Given the description of an element on the screen output the (x, y) to click on. 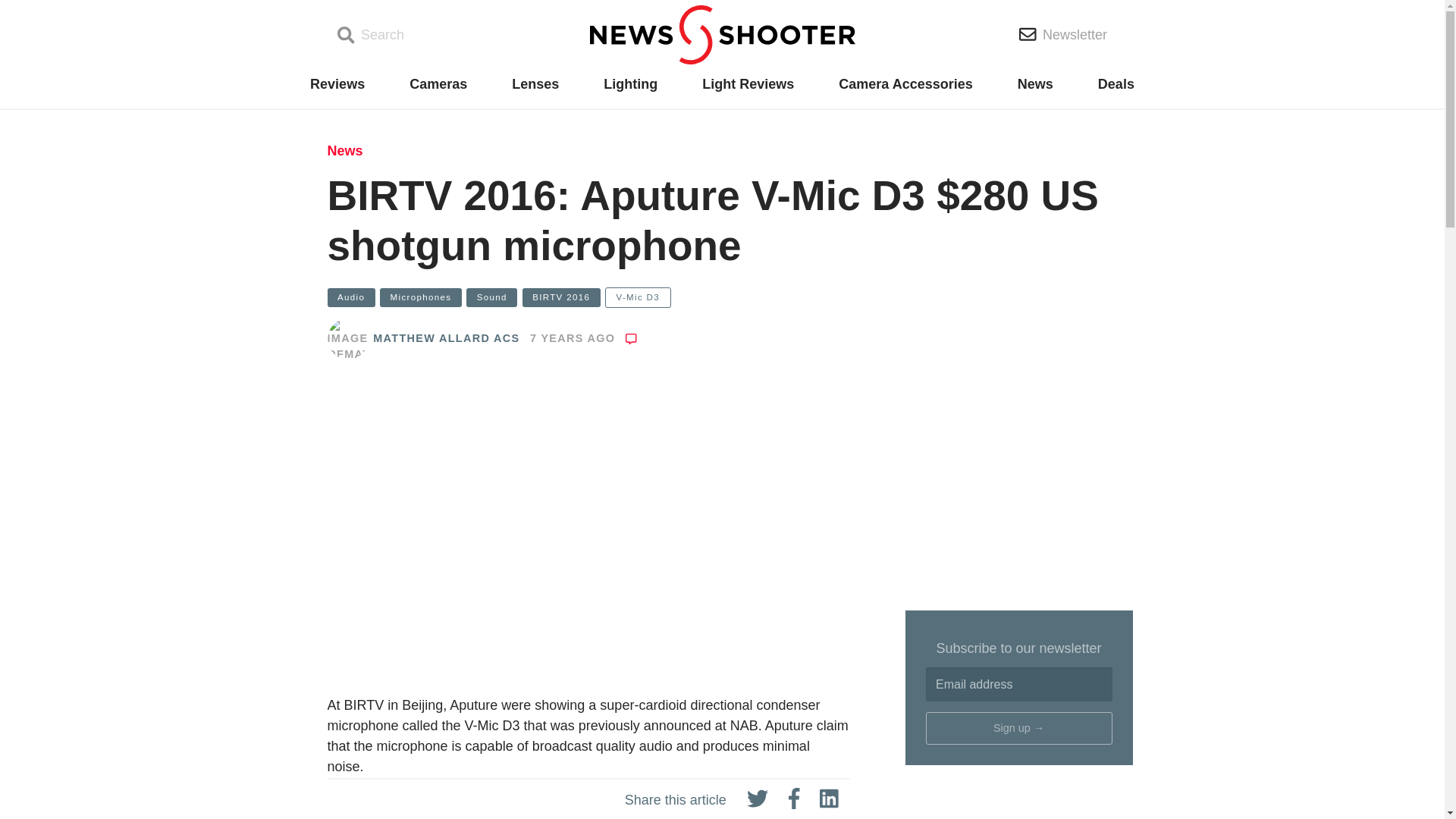
Cameras (438, 84)
Sound (490, 297)
Audio Microphones Sound BIRTV 2016 V-Mic D3 (722, 297)
Lighting (631, 84)
V-Mic D3 (638, 297)
News (1034, 84)
Newsletter (1062, 34)
BIRTV 2016 (560, 297)
Light Reviews (747, 84)
MATTHEW ALLARD ACS (445, 338)
